Given the description of an element on the screen output the (x, y) to click on. 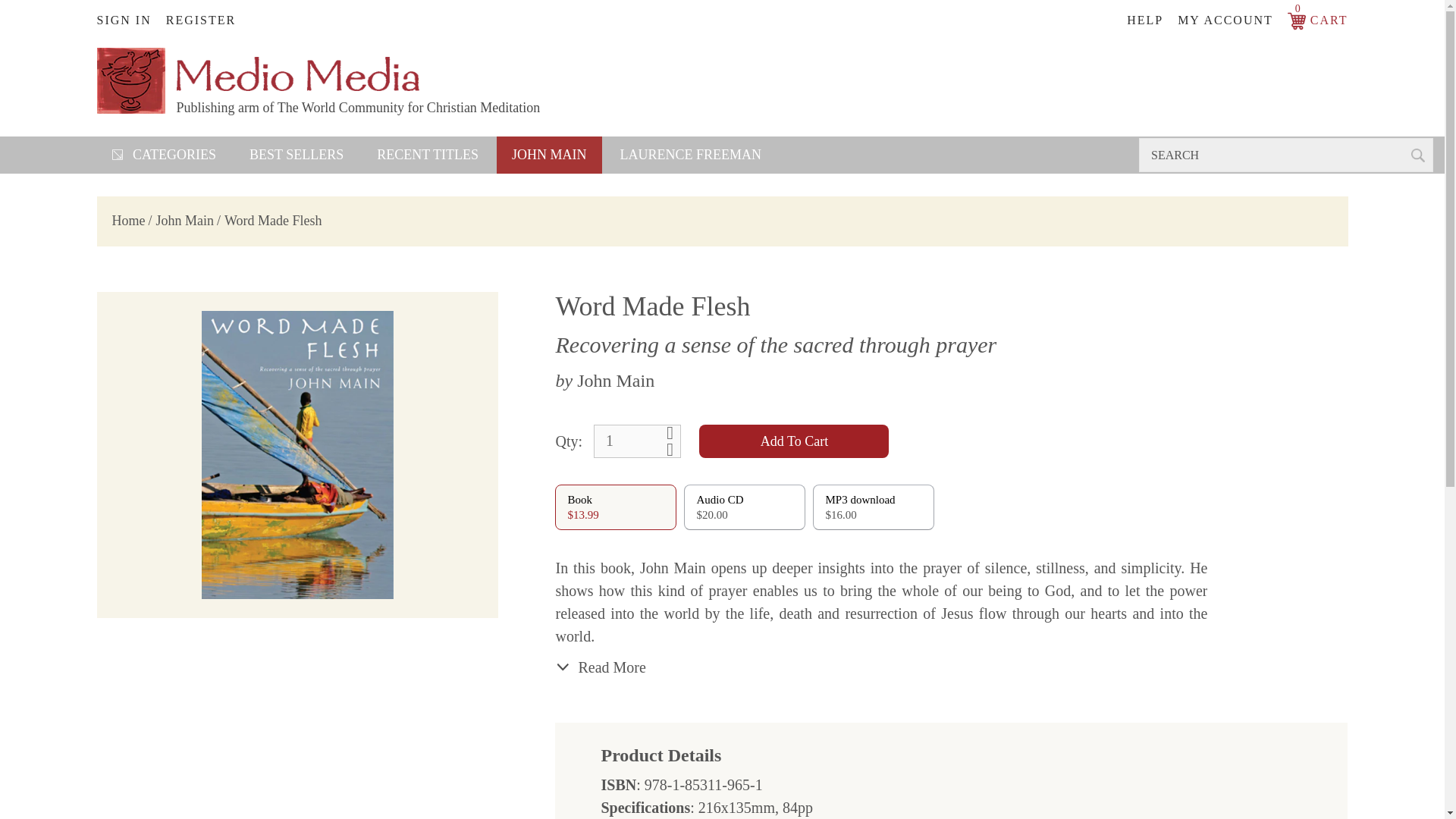
MY ACCOUNT (1317, 19)
1 (1230, 19)
JOHN MAIN (637, 441)
   CATEGORIES (549, 154)
Back to the frontpage (164, 154)
SIGN IN (128, 220)
LAURENCE FREEMAN (130, 19)
REGISTER (691, 154)
BEST SELLERS (200, 19)
RECENT TITLES (296, 154)
HELP (427, 154)
